Given the description of an element on the screen output the (x, y) to click on. 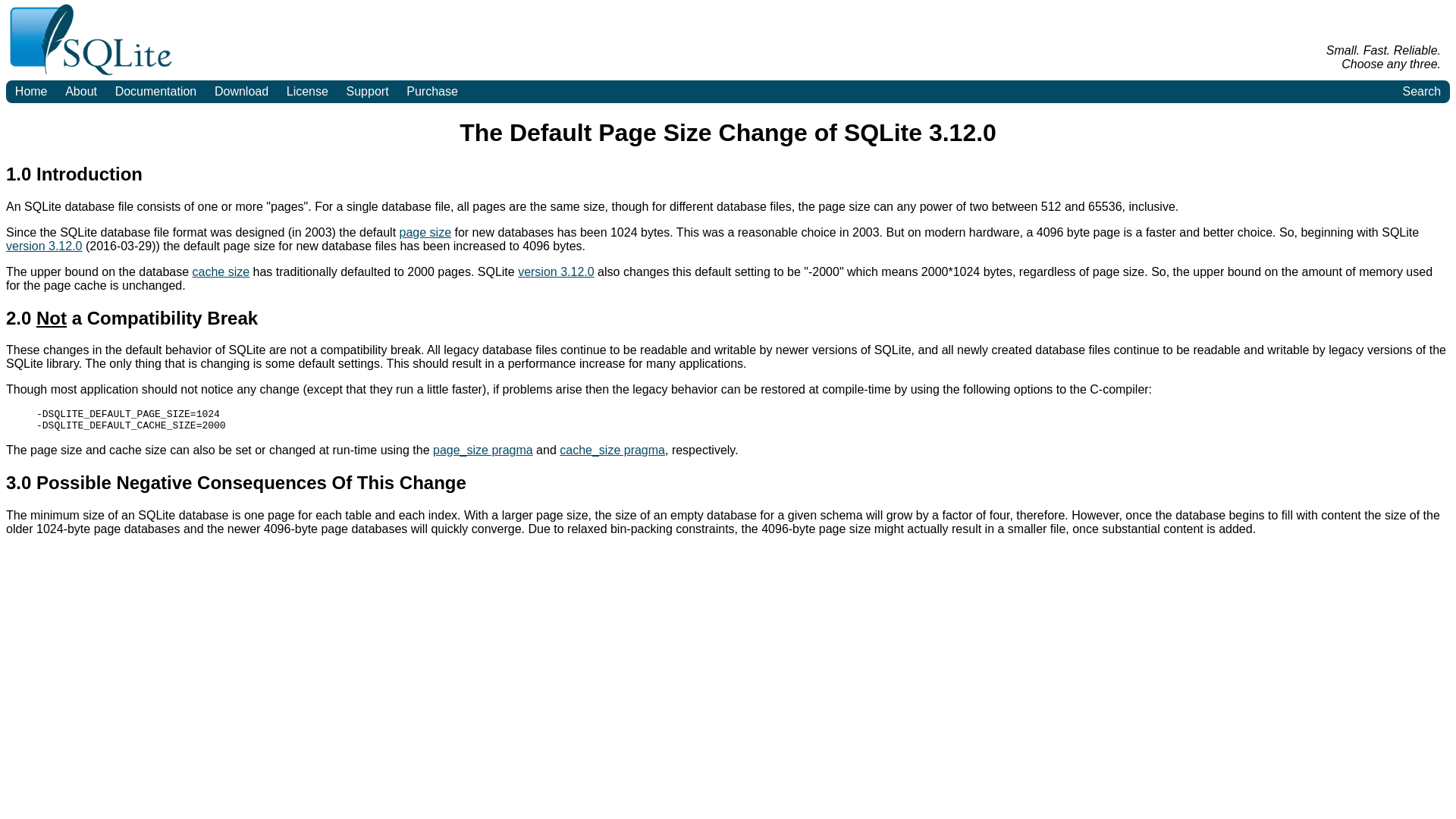
Purchase (431, 91)
cache size (221, 271)
version 3.12.0 (556, 271)
Support (367, 91)
About (80, 91)
Download (241, 91)
page size (424, 232)
Documentation (155, 91)
License (307, 91)
version 3.12.0 (43, 245)
Home (30, 91)
